Given the description of an element on the screen output the (x, y) to click on. 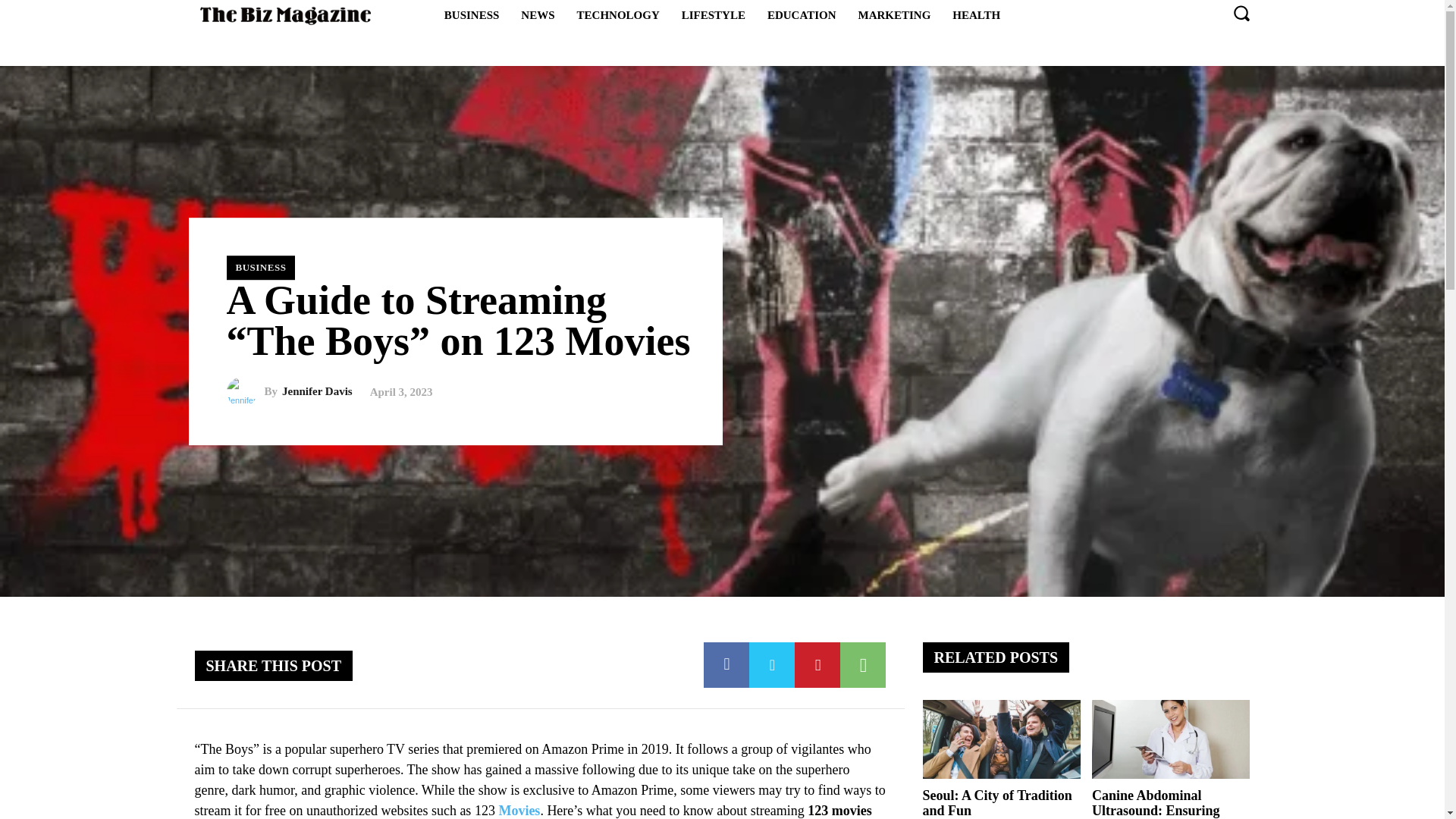
HEALTH (976, 15)
Twitter (771, 664)
Movies (518, 810)
Jennifer Davis (244, 391)
Jennifer Davis (317, 392)
LIFESTYLE (713, 15)
TECHNOLOGY (617, 15)
Facebook (726, 664)
BUSINESS (260, 267)
